Given the description of an element on the screen output the (x, y) to click on. 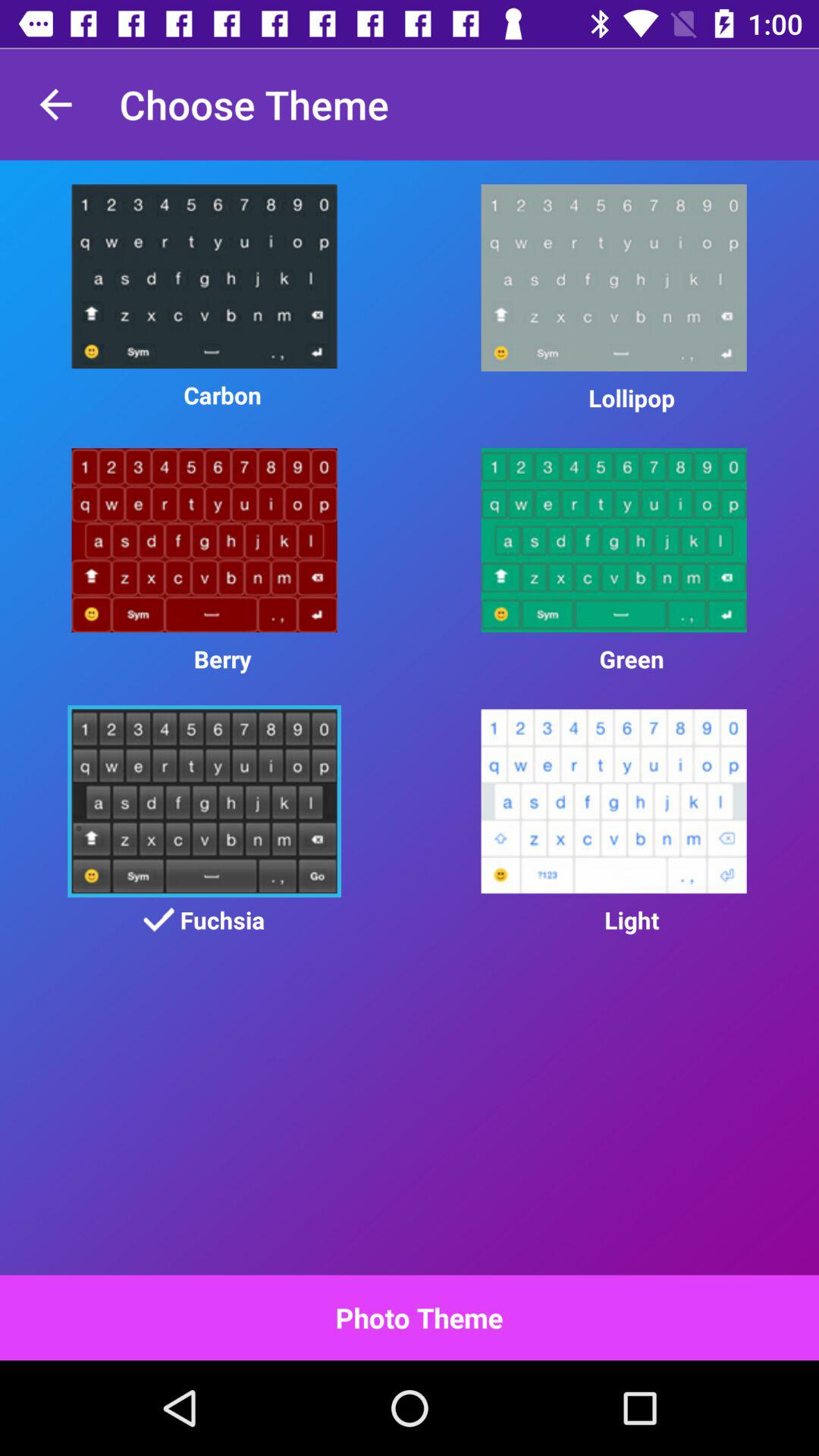
launch item next to choose theme app (55, 104)
